Given the description of an element on the screen output the (x, y) to click on. 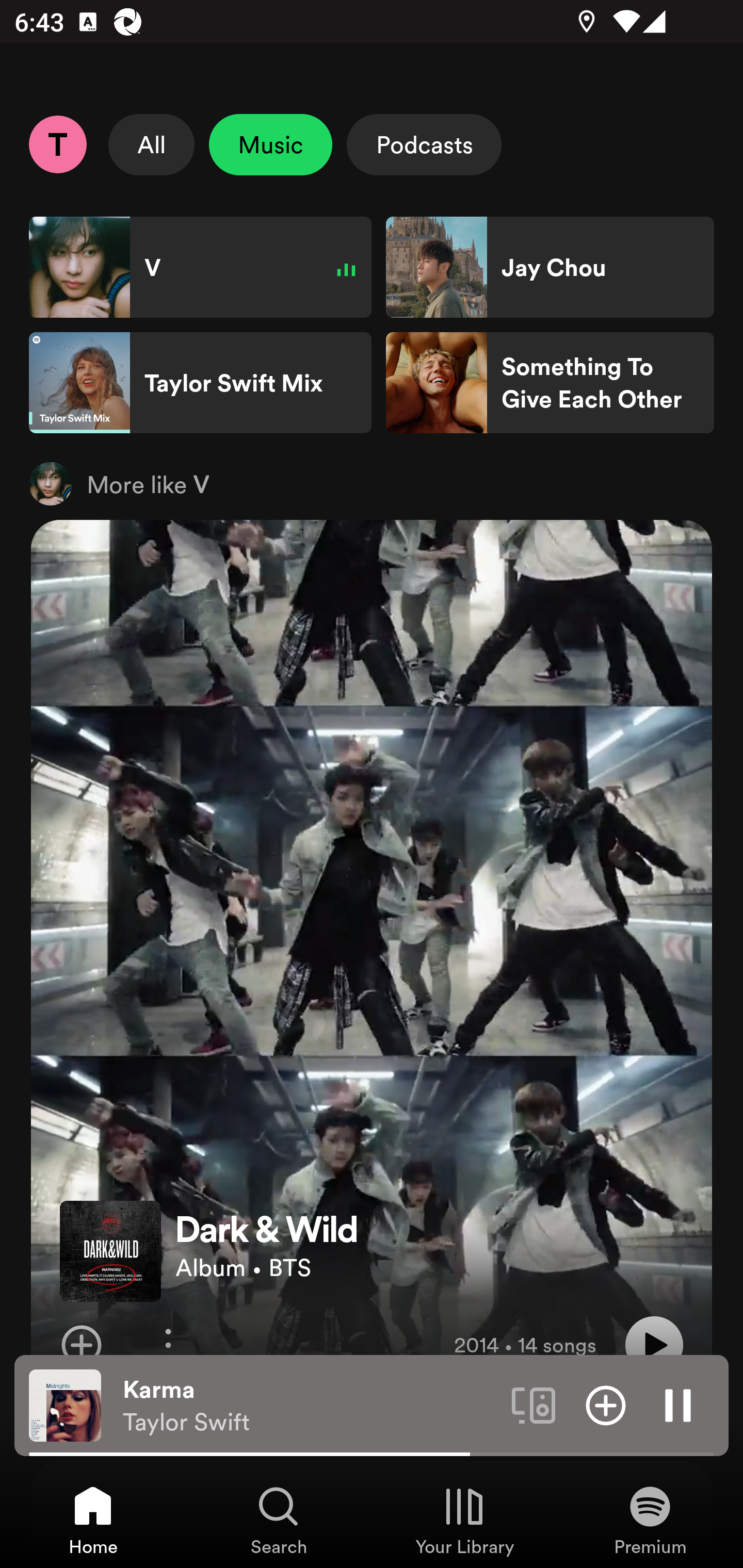
Profile (57, 144)
All Select All (151, 144)
Music Unselect Music (270, 144)
Podcasts Select Podcasts (423, 144)
V Shortcut V Playing (199, 267)
Jay Chou Shortcut Jay Chou (549, 267)
Taylor Swift Mix Shortcut Taylor Swift Mix (199, 382)
More like V (371, 483)
Karma Taylor Swift (309, 1405)
The cover art of the currently playing track (64, 1404)
Connect to a device. Opens the devices menu (533, 1404)
Add item (605, 1404)
Pause (677, 1404)
Previous (121, 1514)
Search, Tab 2 of 4 Search Search (278, 1519)
Your Library, Tab 3 of 4 Your Library Your Library (464, 1519)
Premium, Tab 4 of 4 Premium Premium (650, 1519)
